Given the description of an element on the screen output the (x, y) to click on. 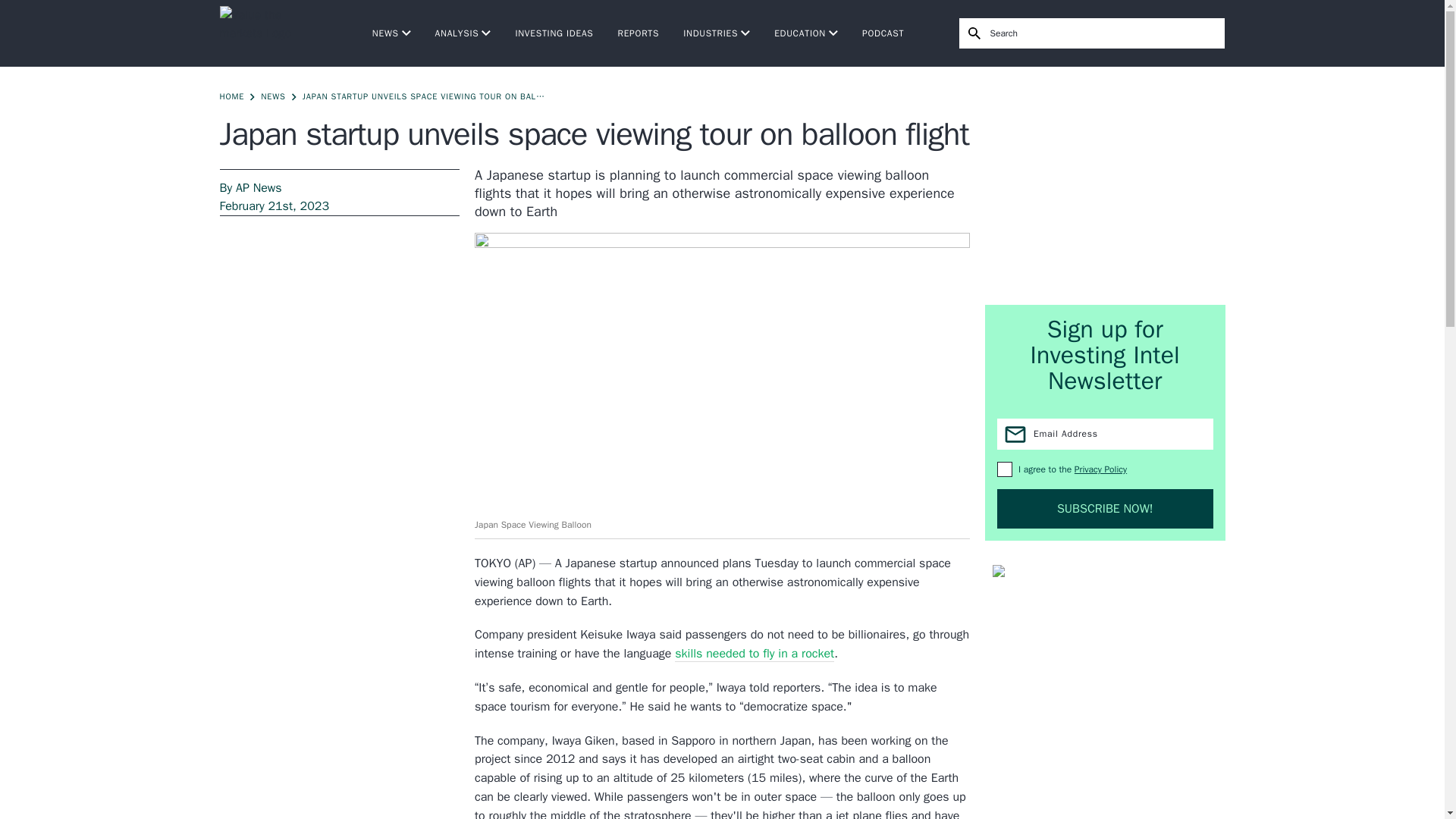
INVESTING IDEAS (553, 33)
EDUCATION (806, 33)
ANALYSIS (463, 33)
INDUSTRIES (715, 33)
PODCAST (882, 33)
Yes (1004, 468)
NEWS (391, 33)
REPORTS (638, 33)
